Given the description of an element on the screen output the (x, y) to click on. 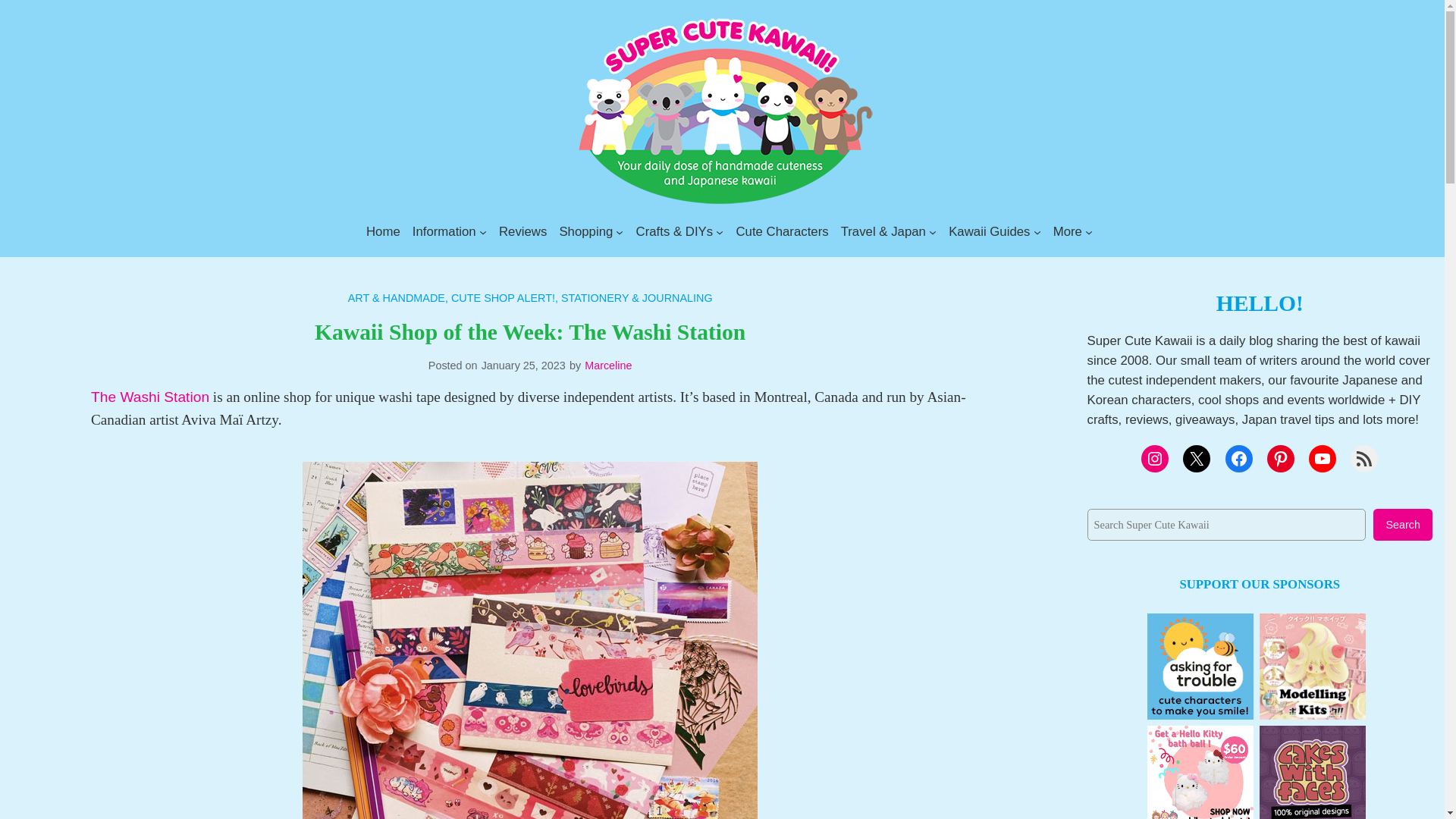
Reviews (523, 231)
Information (444, 231)
Shopping (585, 231)
Home (383, 231)
